Given the description of an element on the screen output the (x, y) to click on. 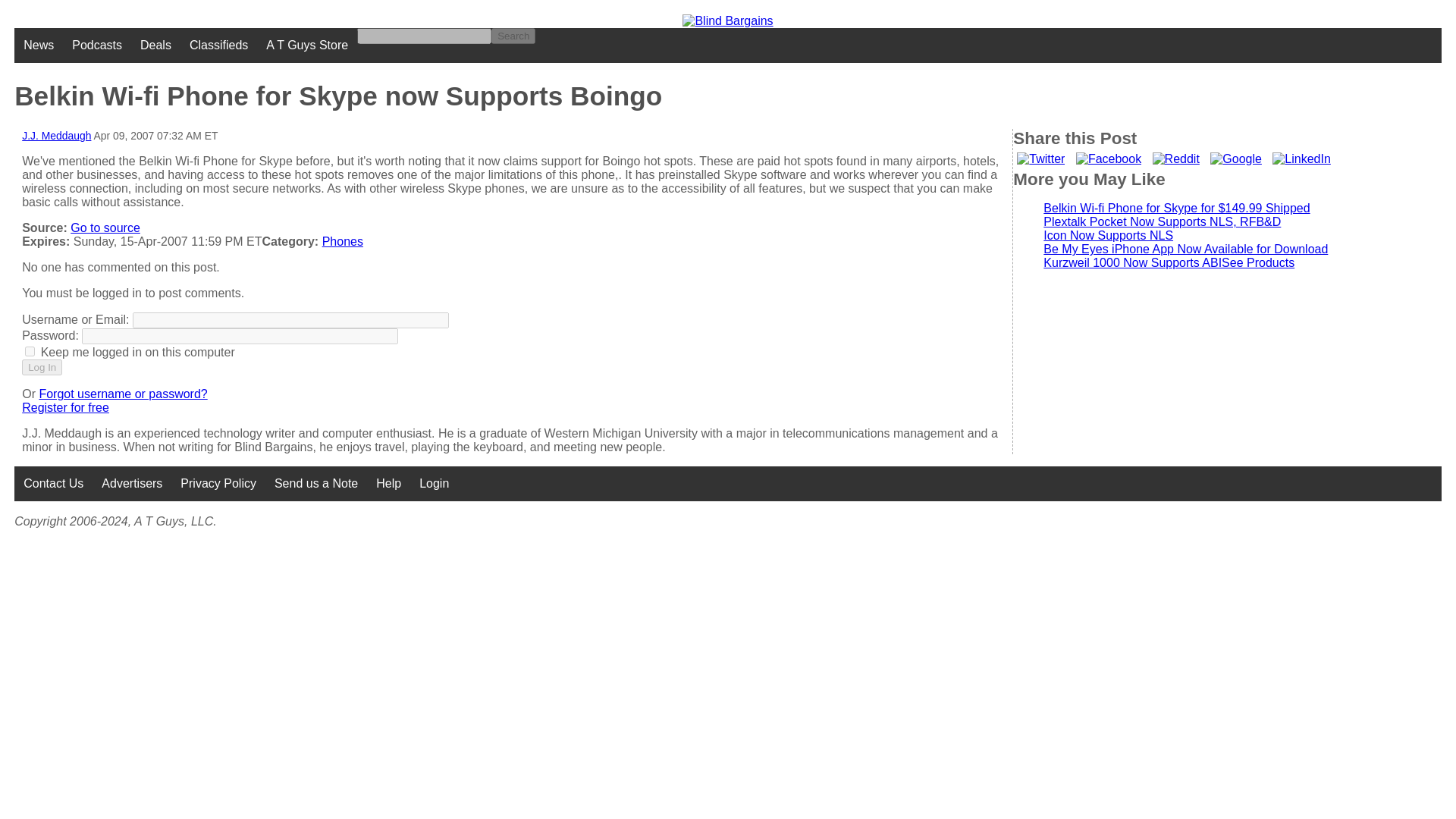
Go to source (104, 227)
Keep me logged in on this computer (29, 351)
Forgot username or password? (122, 393)
Send us a Note (315, 483)
Kurzweil 1000 Now Supports ABISee Products (1168, 262)
Search (513, 35)
Help (388, 483)
Contact Us (53, 483)
Classifieds (218, 45)
News (38, 45)
